Given the description of an element on the screen output the (x, y) to click on. 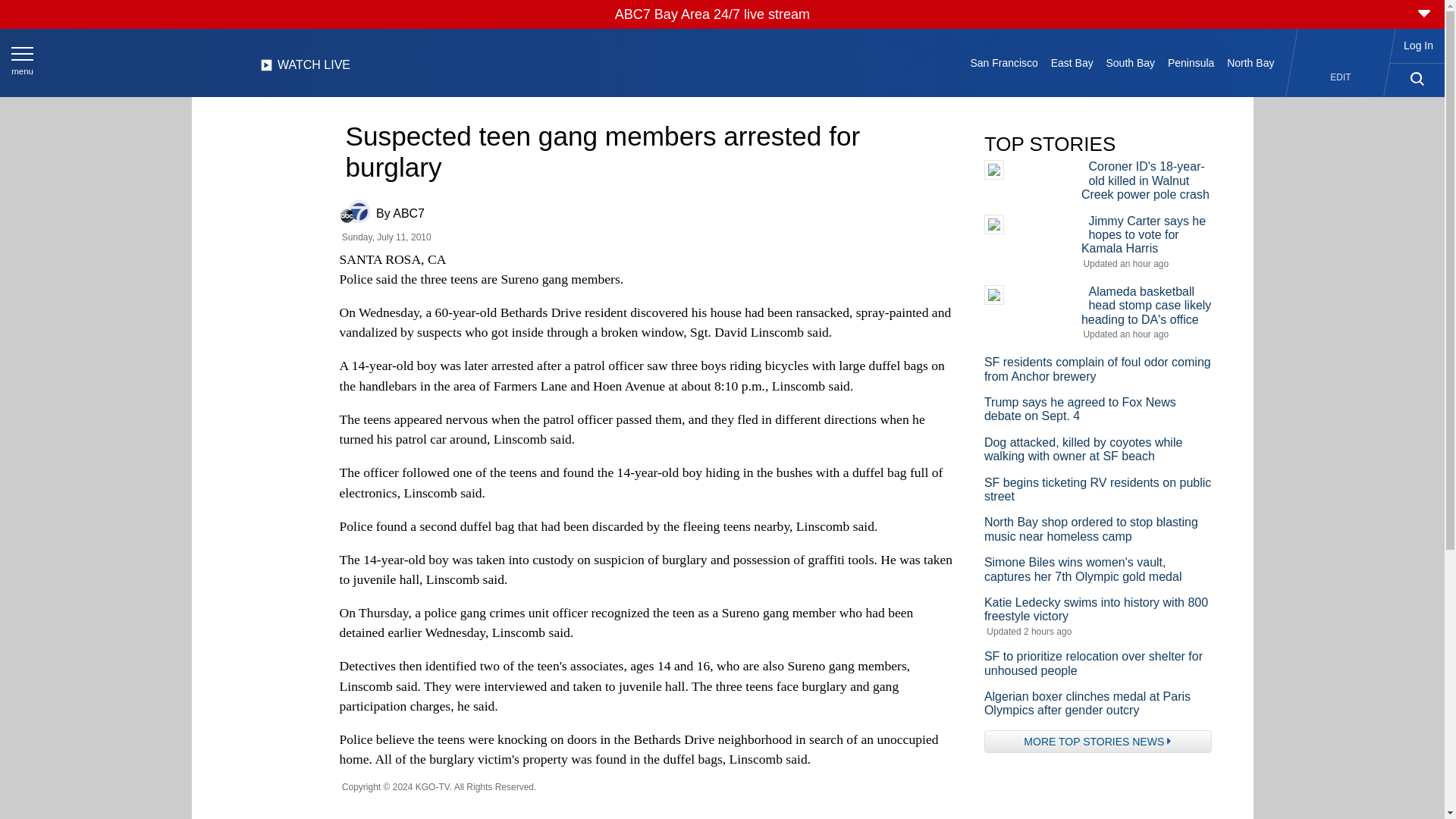
East Bay (1071, 62)
WATCH LIVE (305, 69)
North Bay (1251, 62)
Peninsula (1191, 62)
South Bay (1129, 62)
San Francisco (1003, 62)
EDIT (1340, 77)
